Given the description of an element on the screen output the (x, y) to click on. 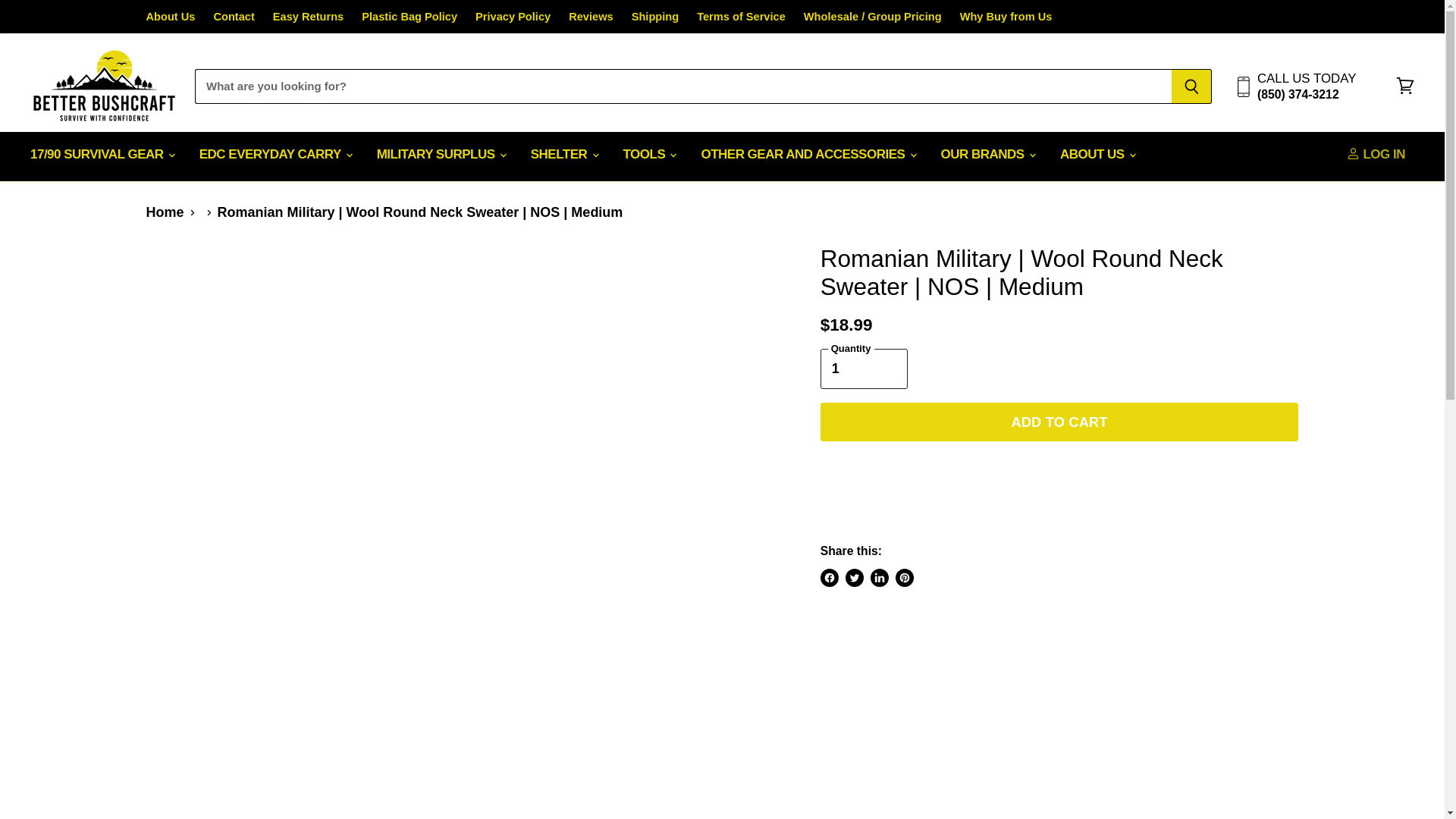
Why Buy from Us (1005, 16)
Plastic Bag Policy (409, 16)
View cart (1405, 86)
1 (864, 368)
Shipping (654, 16)
Contact (232, 16)
Reviews (590, 16)
EDC EVERYDAY CARRY (274, 154)
ACCOUNT ICON (1352, 153)
Easy Returns (308, 16)
